Given the description of an element on the screen output the (x, y) to click on. 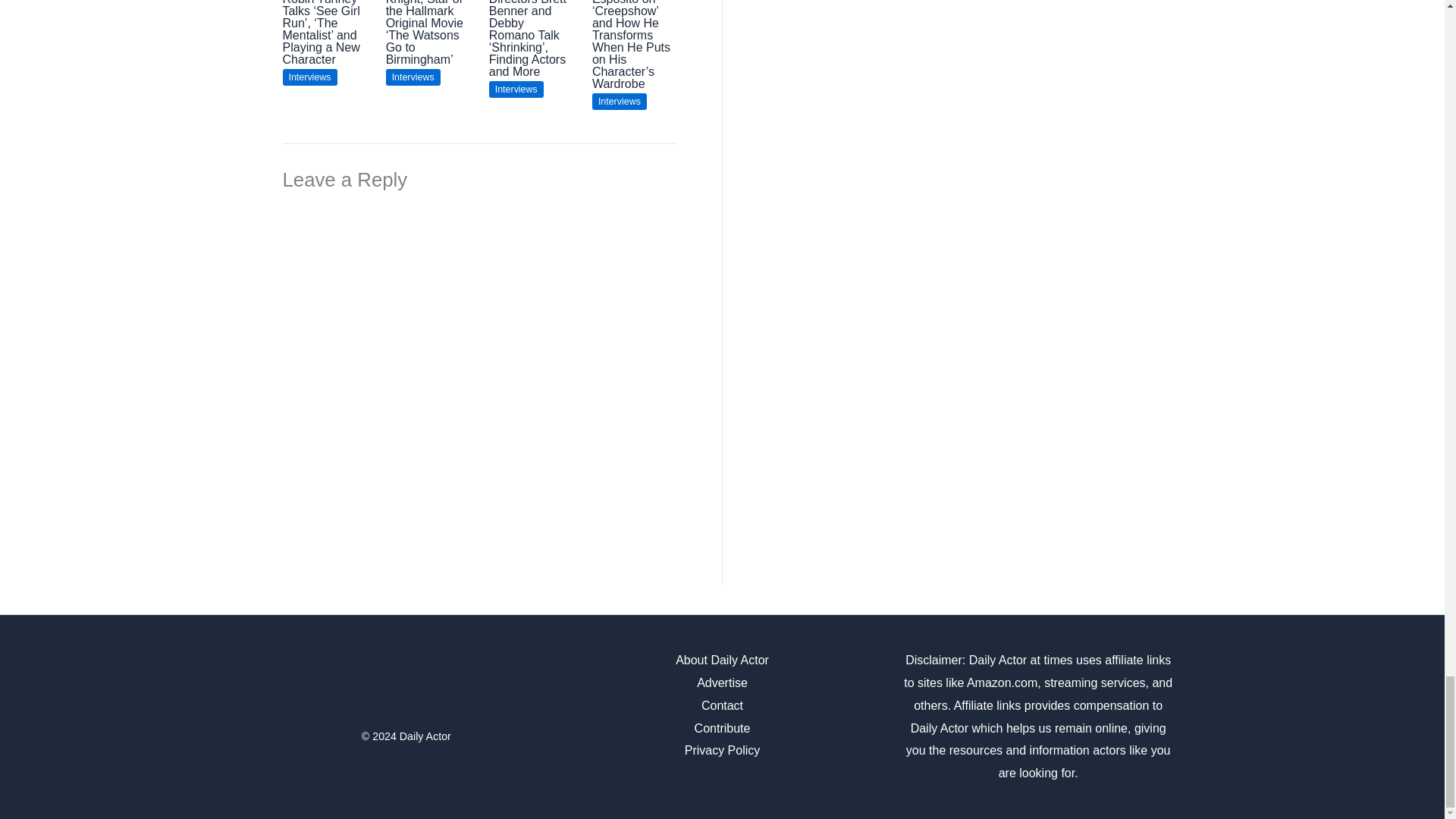
Comment Form (479, 359)
